Given the description of an element on the screen output the (x, y) to click on. 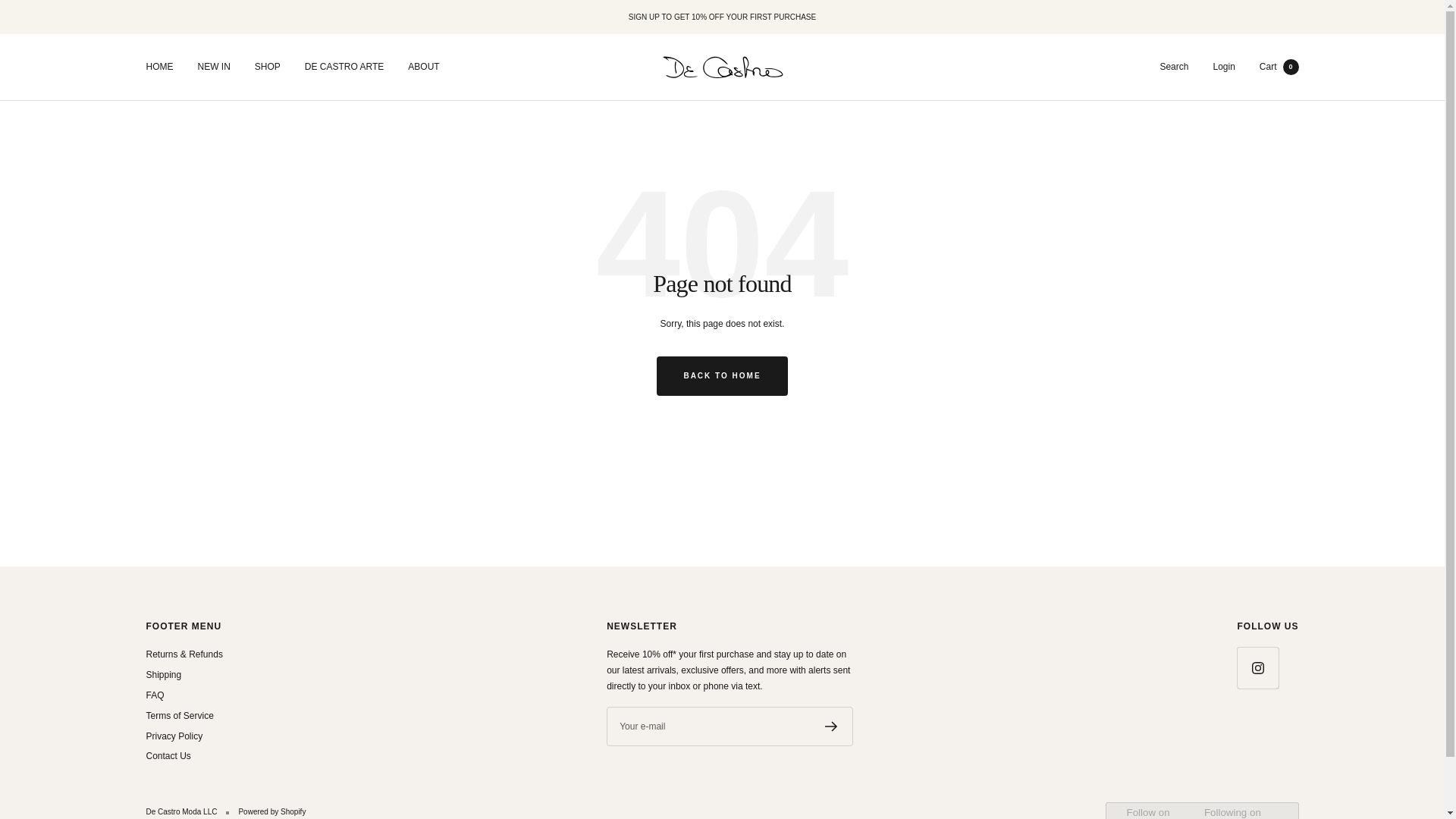
De Castro Moda LLC (722, 66)
Powered by Shopify (271, 811)
FAQ (154, 695)
Terms of Service (1278, 66)
Privacy Policy (178, 715)
Search (173, 736)
SHOP (1173, 66)
ABOUT (267, 66)
Login (423, 66)
